Given the description of an element on the screen output the (x, y) to click on. 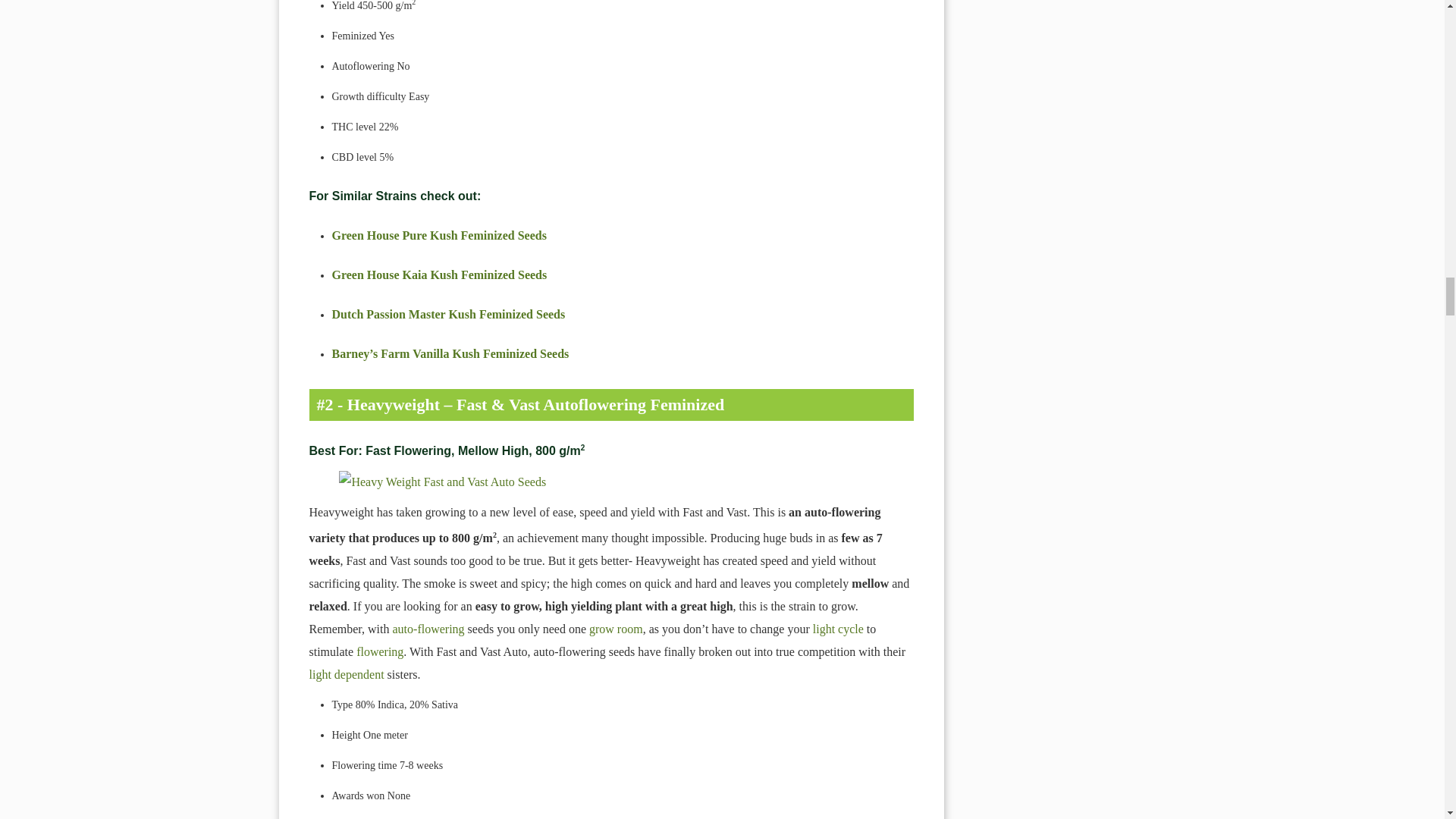
Heavy Weight Fast and Vast Auto Seeds (611, 481)
